Given the description of an element on the screen output the (x, y) to click on. 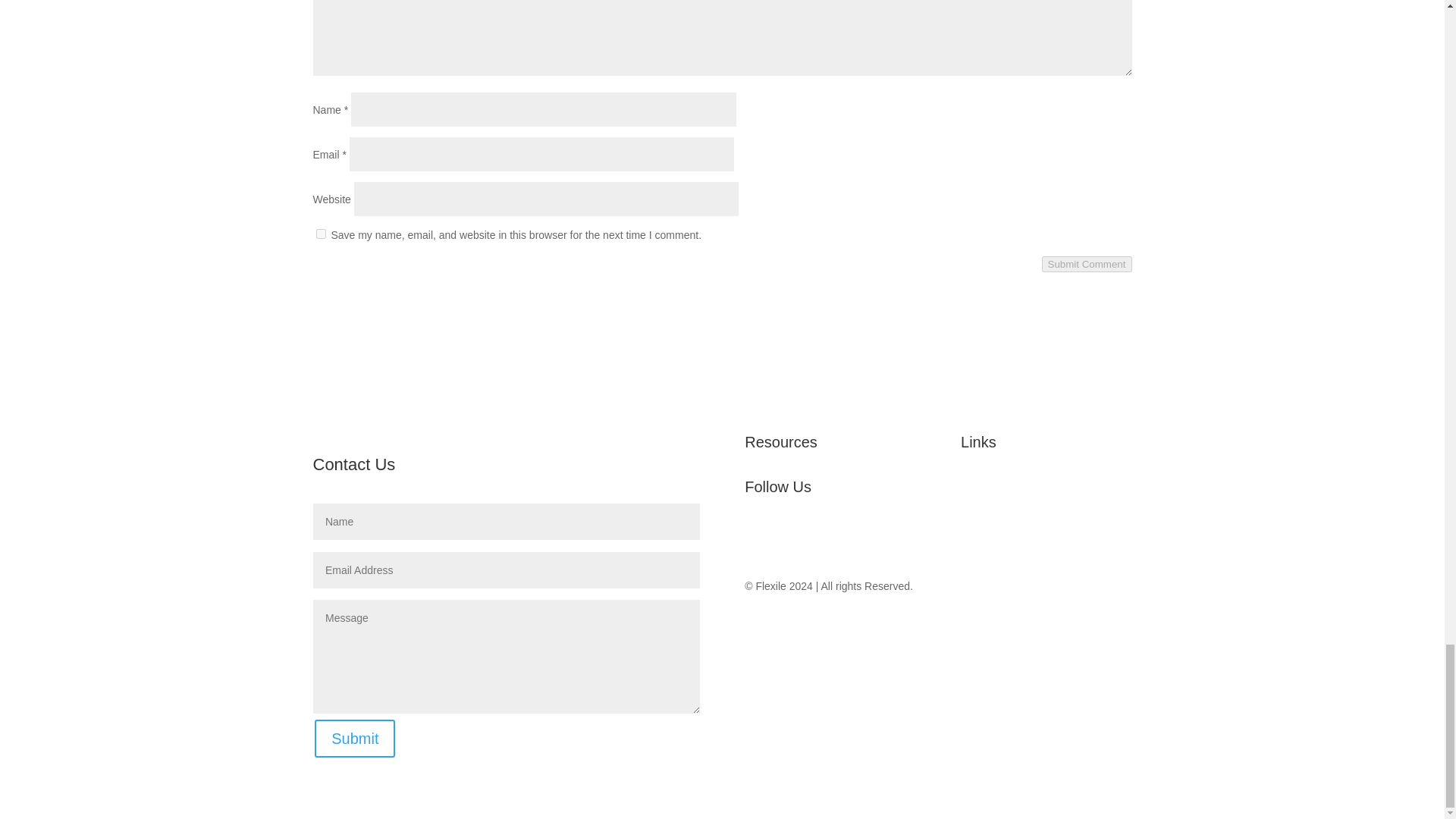
Submit (354, 738)
Submit Comment (1087, 263)
Follow on Youtube (817, 536)
Follow on Twitter (786, 536)
Follow on Pinterest (877, 536)
Follow on Instagram (847, 536)
yes (319, 234)
Follow on Facebook (756, 536)
